Given the description of an element on the screen output the (x, y) to click on. 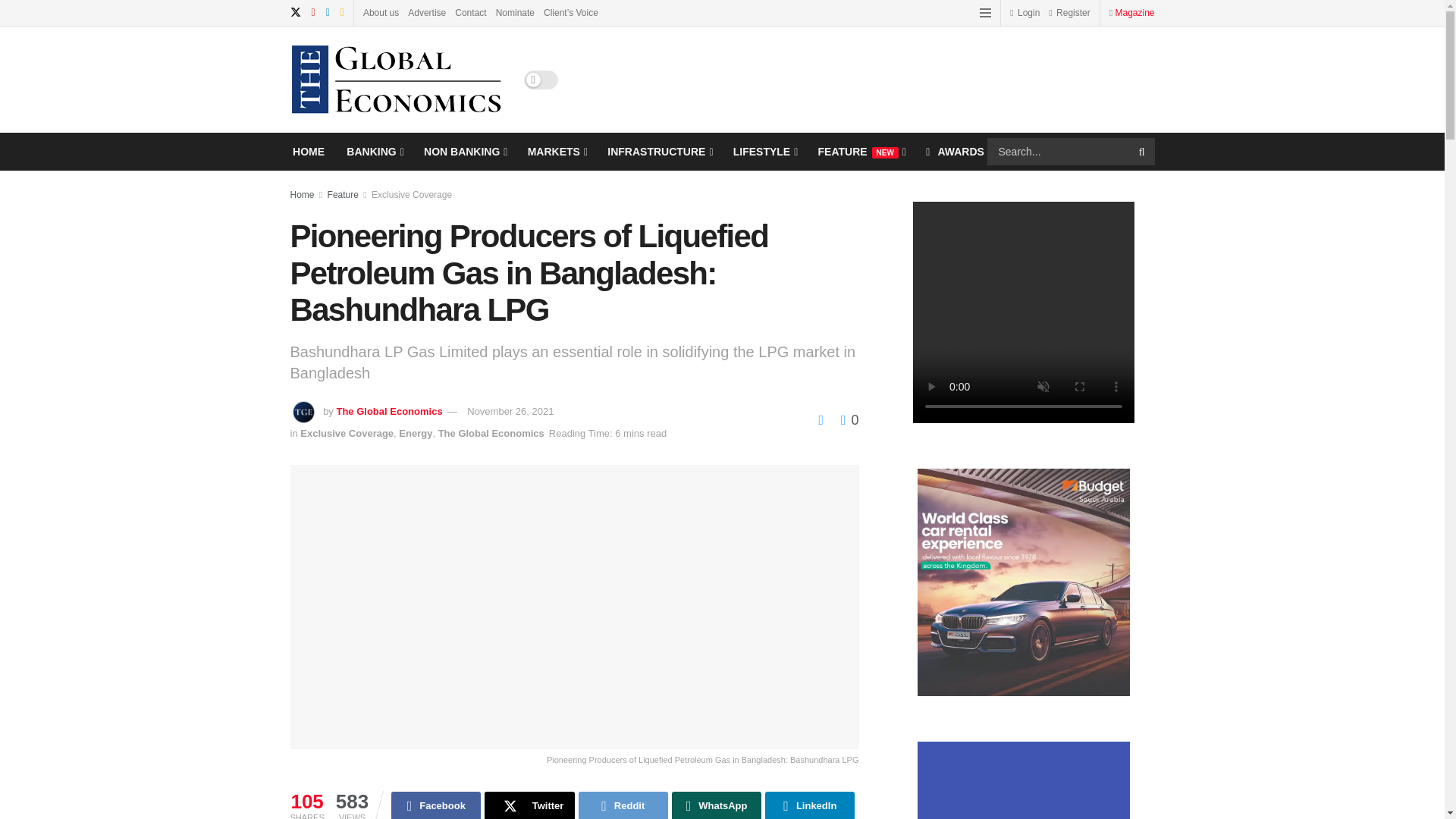
Magazine (1134, 12)
LIFESTYLE (764, 151)
Login (1024, 12)
Home (301, 194)
Advertise (426, 12)
INFRASTRUCTURE (658, 151)
BANKING (373, 151)
Feature (342, 194)
MARKETS (556, 151)
Nominate (515, 12)
